Given the description of an element on the screen output the (x, y) to click on. 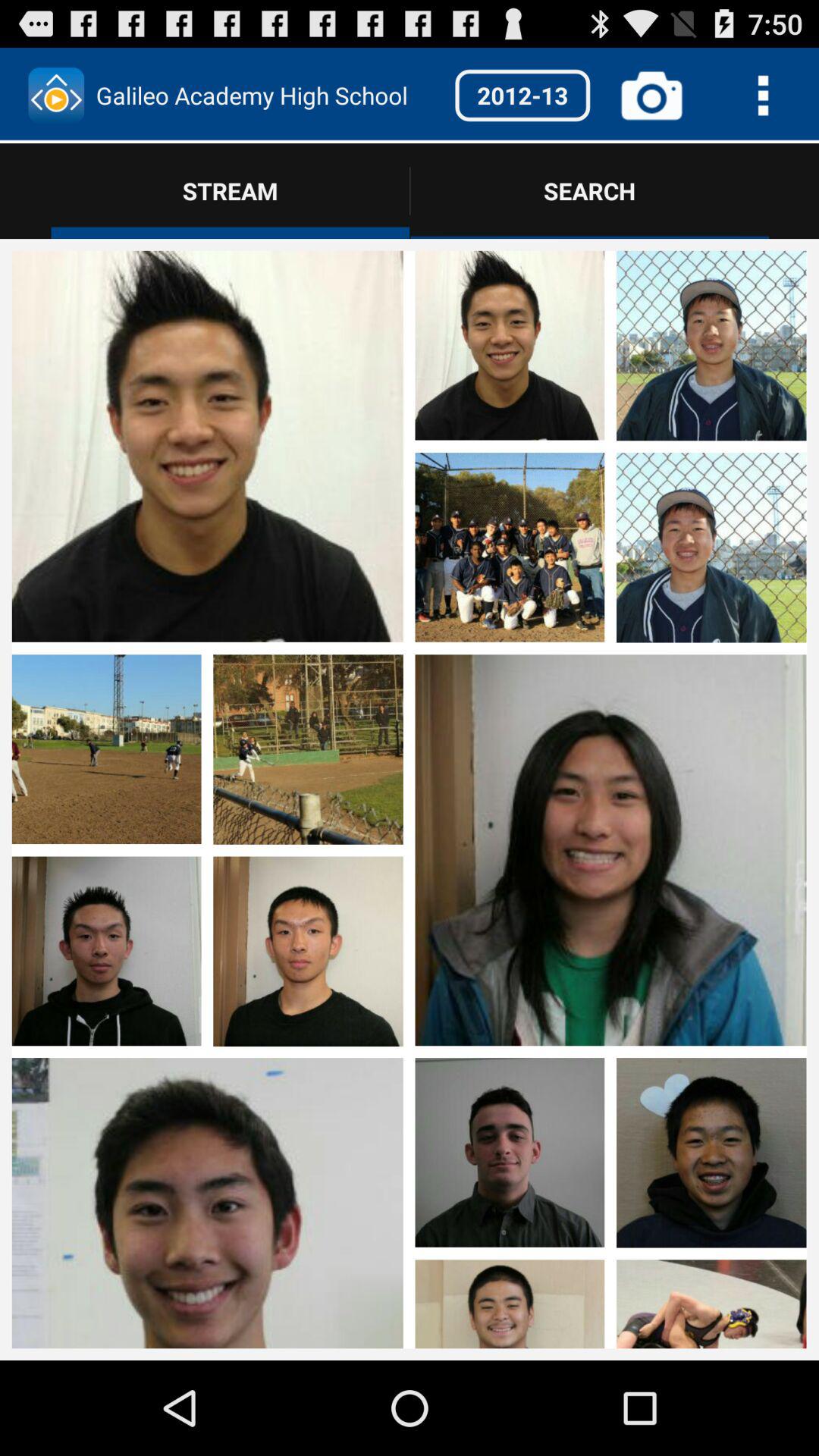
select photos (610, 447)
